Given the description of an element on the screen output the (x, y) to click on. 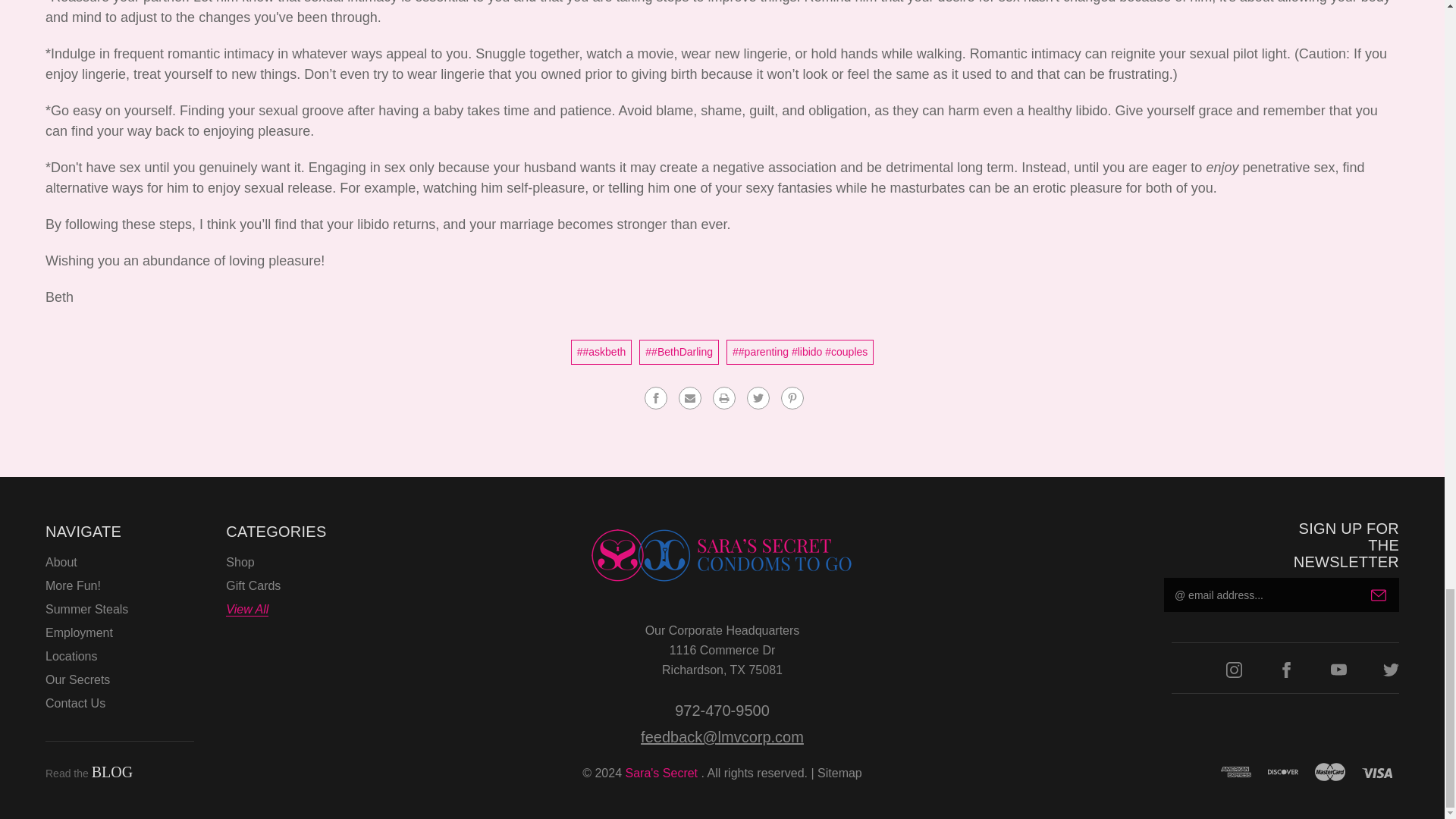
Print (724, 397)
Facebook (1286, 669)
Twitter (1391, 669)
Email (689, 397)
Youtube (1338, 669)
Instagram (1233, 669)
Facebook (655, 397)
Twitter (758, 397)
Pinterest (791, 397)
Sara's Secret (722, 555)
